Given the description of an element on the screen output the (x, y) to click on. 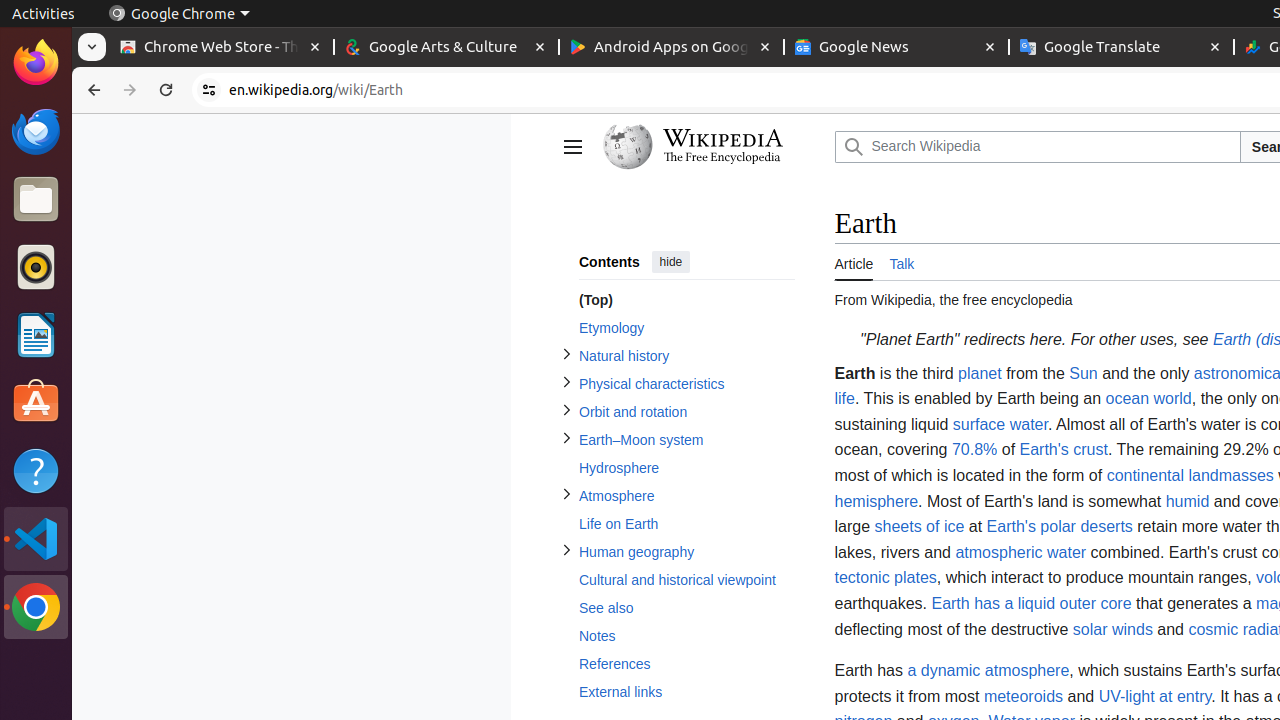
Google Chrome Element type: push-button (36, 607)
See also Element type: link (686, 608)
External links Element type: link (686, 692)
Ubuntu Software Element type: push-button (36, 402)
sheets of ice Element type: link (919, 527)
